Given the description of an element on the screen output the (x, y) to click on. 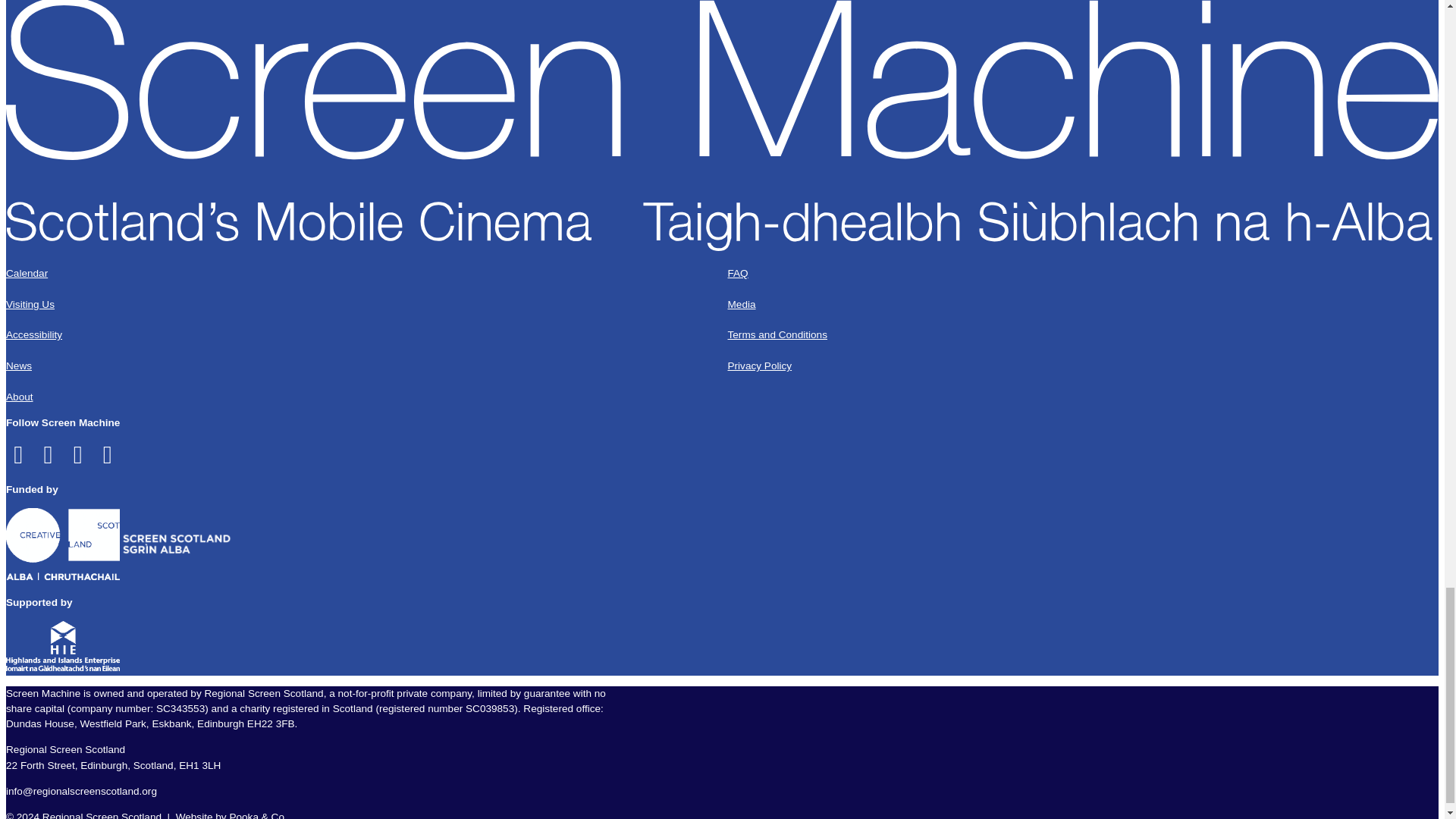
About (19, 396)
Visit the Screen Machine on Facebook (19, 460)
Visit the Screen Machine on Instagram (79, 460)
Visit the Screen Machine on Vimeo (108, 460)
Privacy Policy (760, 365)
Terms and Conditions (777, 334)
Accessibility (33, 334)
Visiting Us (30, 304)
Screen Scotland (164, 546)
